Given the description of an element on the screen output the (x, y) to click on. 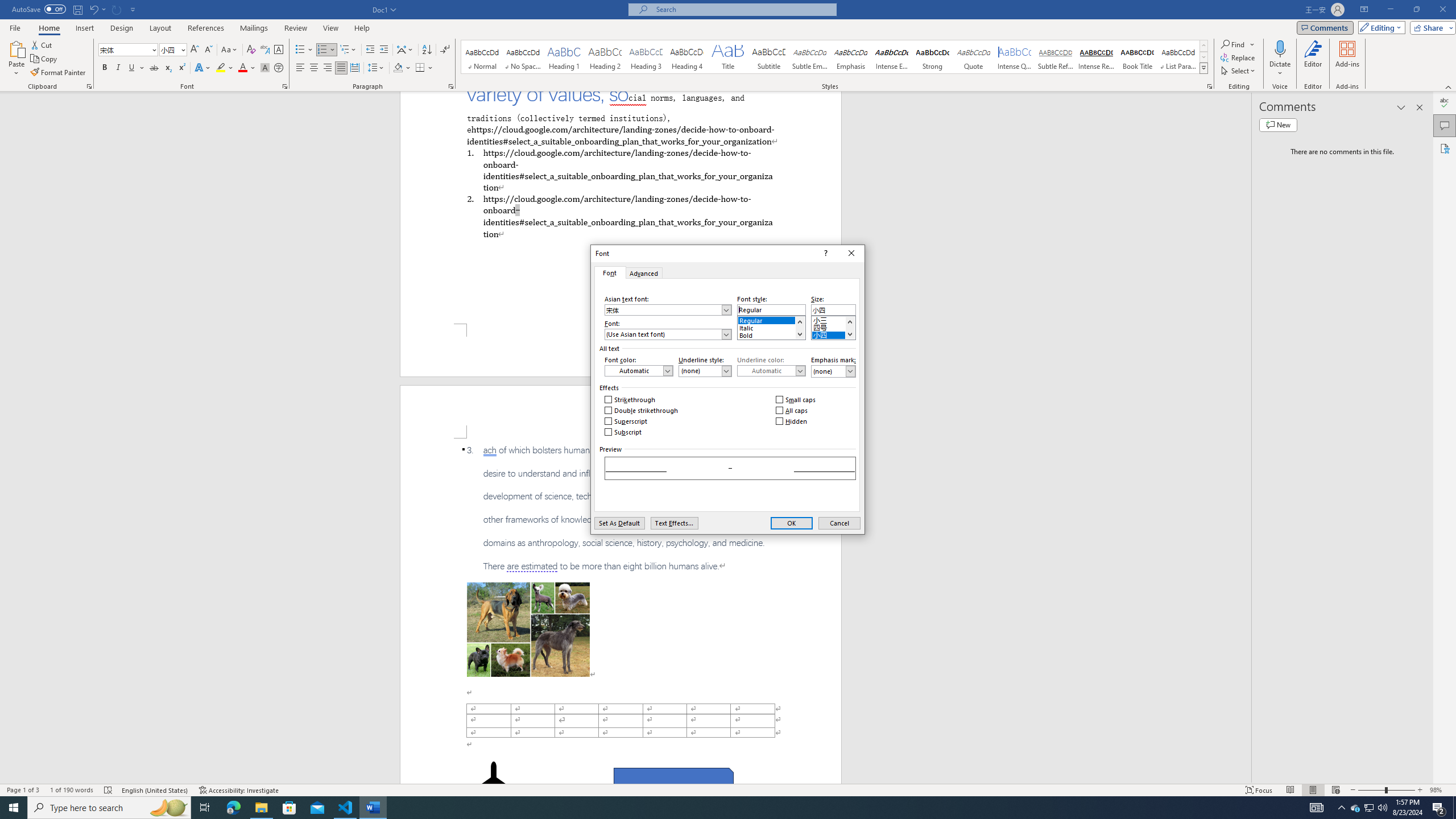
Spelling and Grammar Check Errors (108, 790)
Center (313, 67)
Bullets (304, 49)
Row Down (1203, 56)
Font Color (Automatic) (638, 370)
Distributed (354, 67)
Zoom Out (1371, 790)
Print Layout (1312, 790)
Shading (402, 67)
Shrink Font (208, 49)
Minimize (1390, 9)
Shading RGB(0, 0, 0) (397, 67)
Emphasis (849, 56)
Q2790: 100% (1382, 807)
